Given the description of an element on the screen output the (x, y) to click on. 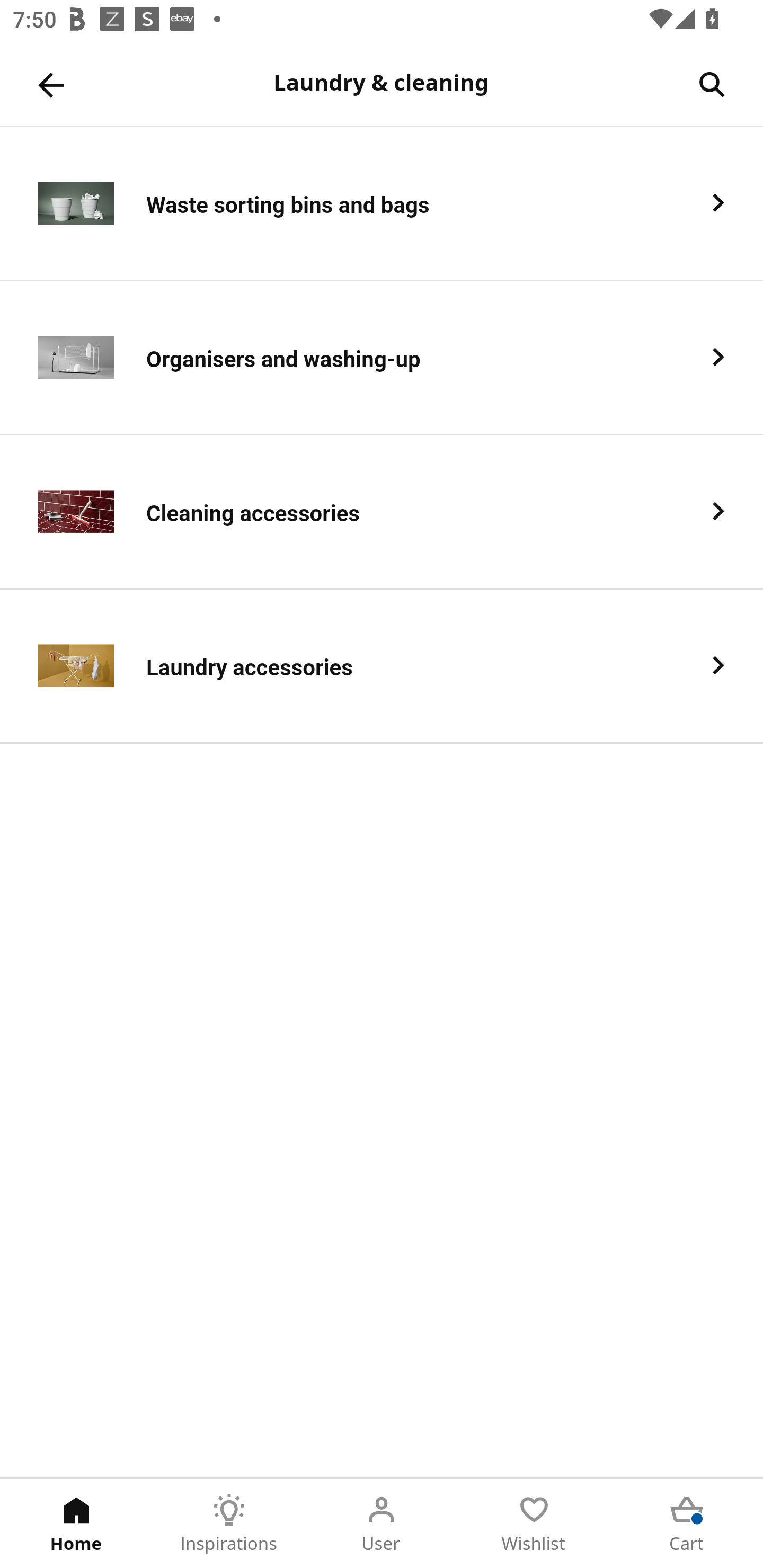
Waste sorting bins and bags (381, 203)
Organisers and washing-up (381, 357)
Cleaning accessories (381, 512)
Laundry accessories (381, 666)
Home
Tab 1 of 5 (76, 1522)
Inspirations
Tab 2 of 5 (228, 1522)
User
Tab 3 of 5 (381, 1522)
Wishlist
Tab 4 of 5 (533, 1522)
Cart
Tab 5 of 5 (686, 1522)
